Given the description of an element on the screen output the (x, y) to click on. 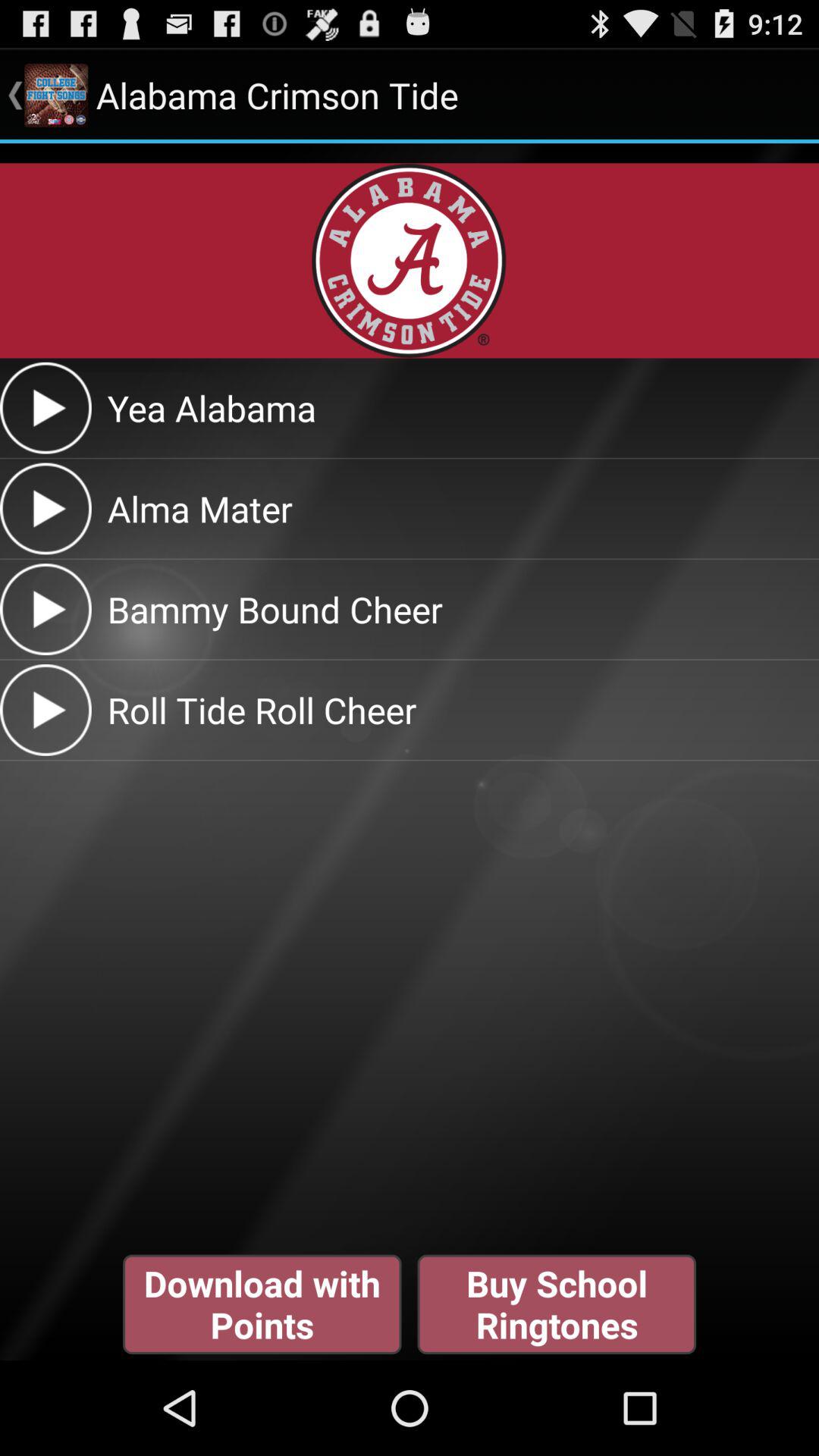
go back (45, 407)
